Given the description of an element on the screen output the (x, y) to click on. 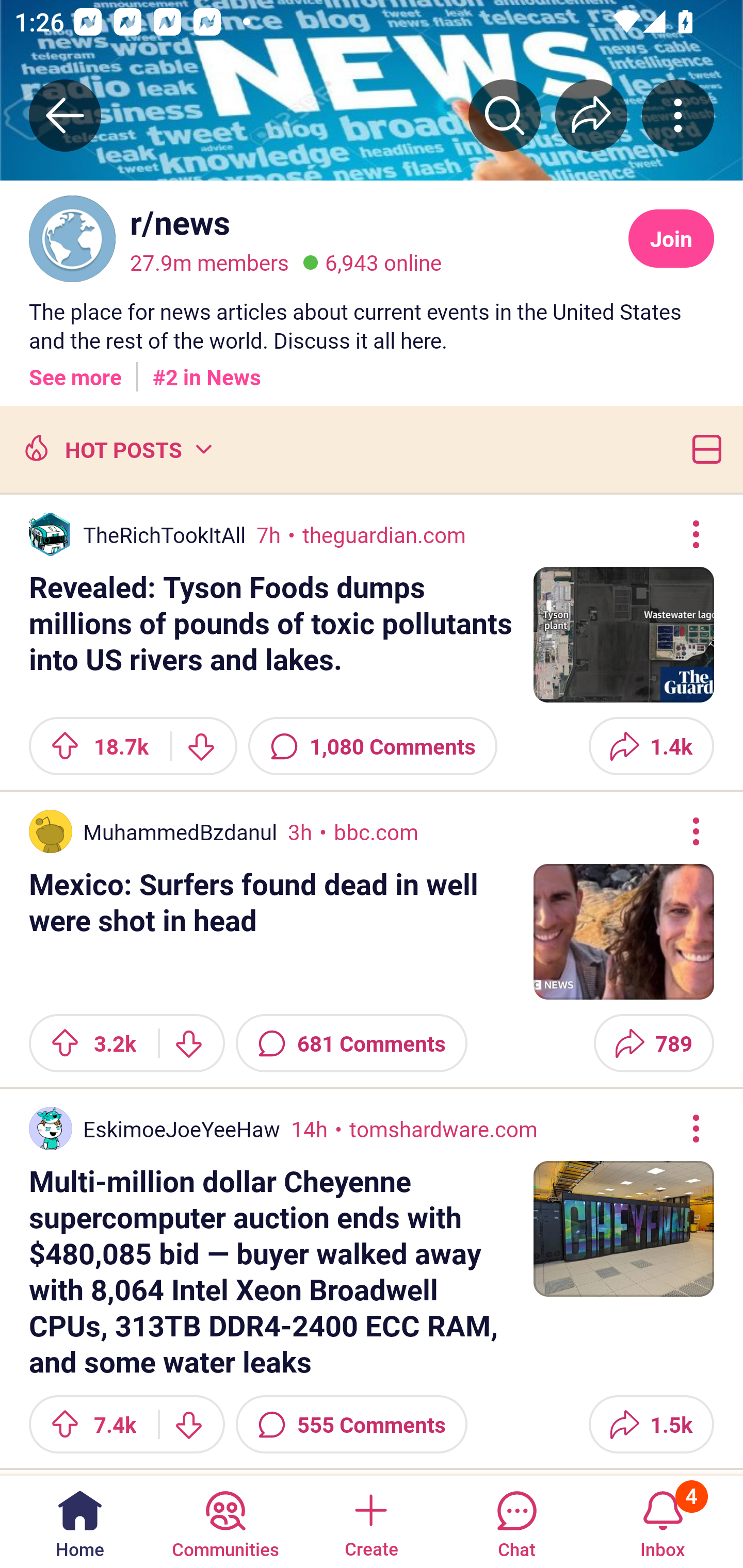
Back (64, 115)
Search r/﻿news (504, 115)
Share r/﻿news (591, 115)
More community actions (677, 115)
Hot posts HOT POSTS (116, 449)
Card (703, 449)
Home (80, 1520)
Communities (225, 1520)
Create a post Create (370, 1520)
Chat (516, 1520)
Inbox, has 4 notifications 4 Inbox (662, 1520)
